Given the description of an element on the screen output the (x, y) to click on. 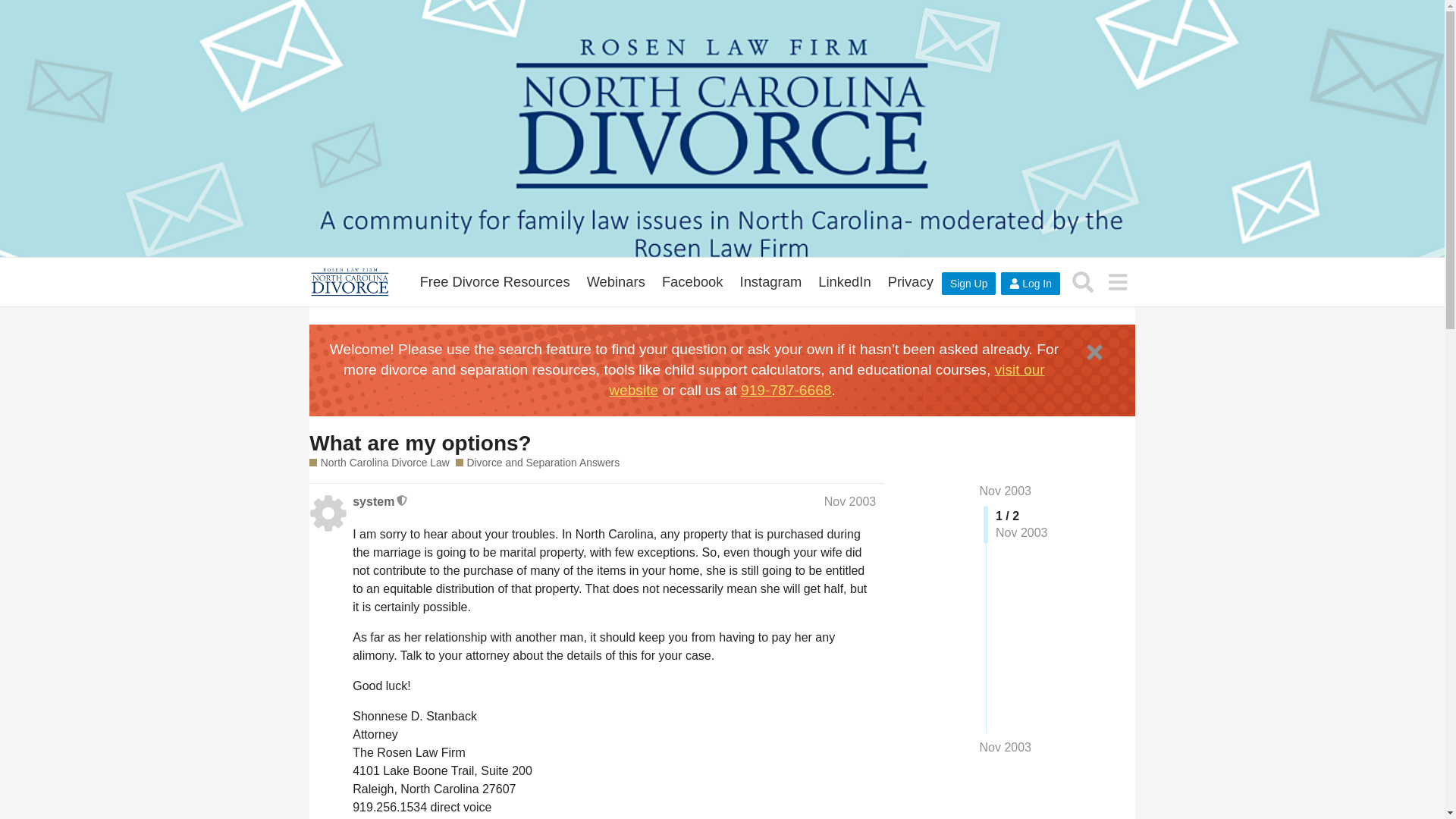
Webinars (615, 281)
visit our website (826, 379)
Dismiss this banner (1093, 351)
Jump to the first post (1005, 490)
LinkedIn (844, 281)
Search (1082, 281)
system (373, 501)
Facebook (692, 281)
North Carolina Divorce Law (378, 462)
919-787-6668 (786, 390)
Nov 2003 (1005, 747)
LinkedIn Page (844, 281)
Upcoming Webinars (615, 281)
